Given the description of an element on the screen output the (x, y) to click on. 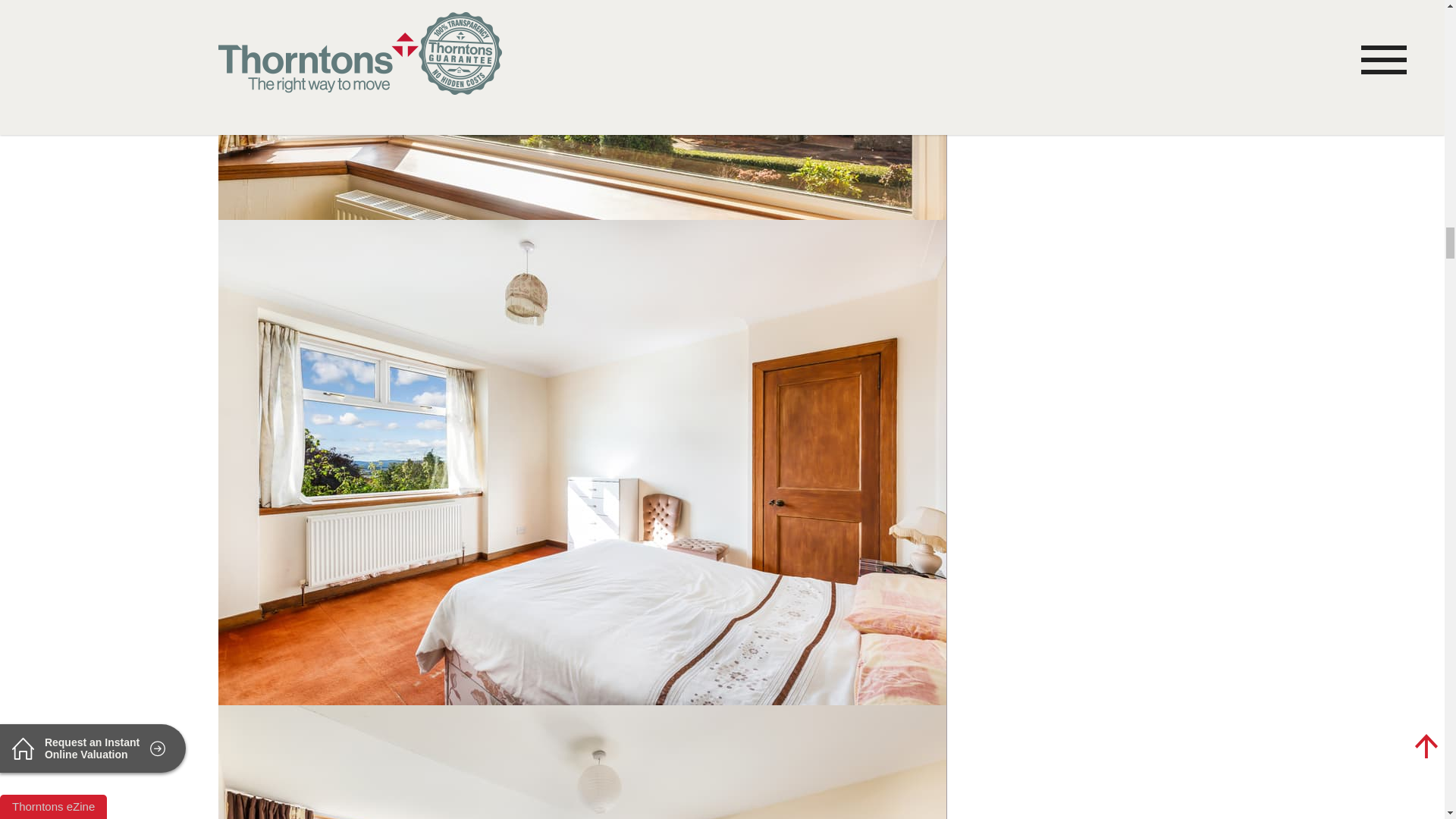
Picture 14 of 24 (582, 762)
